Given the description of an element on the screen output the (x, y) to click on. 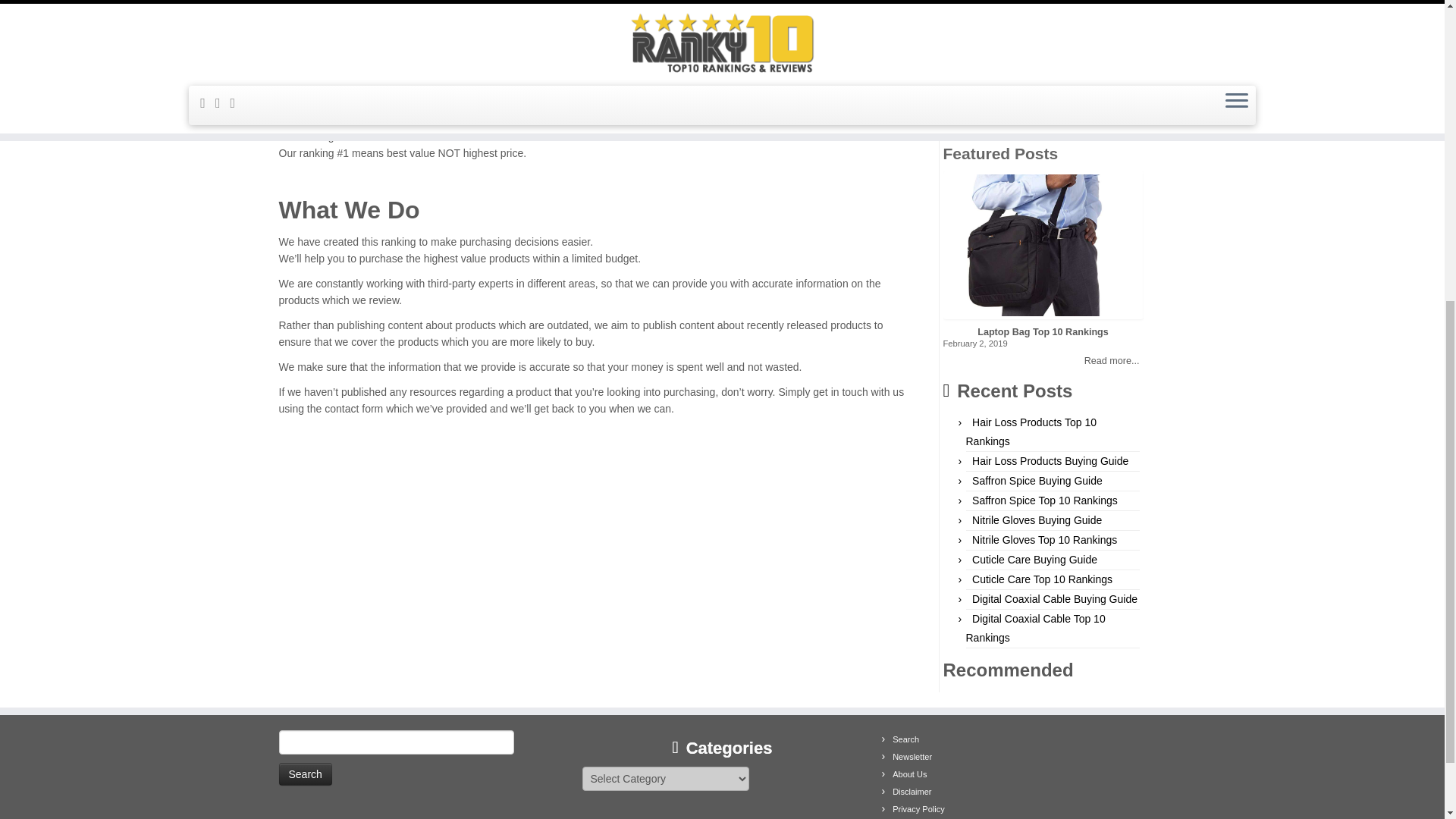
Laptop Bag Top 10 Rankings (1042, 332)
Musical Instruments (1013, 39)
Search (305, 773)
Read more... (1042, 360)
